Given the description of an element on the screen output the (x, y) to click on. 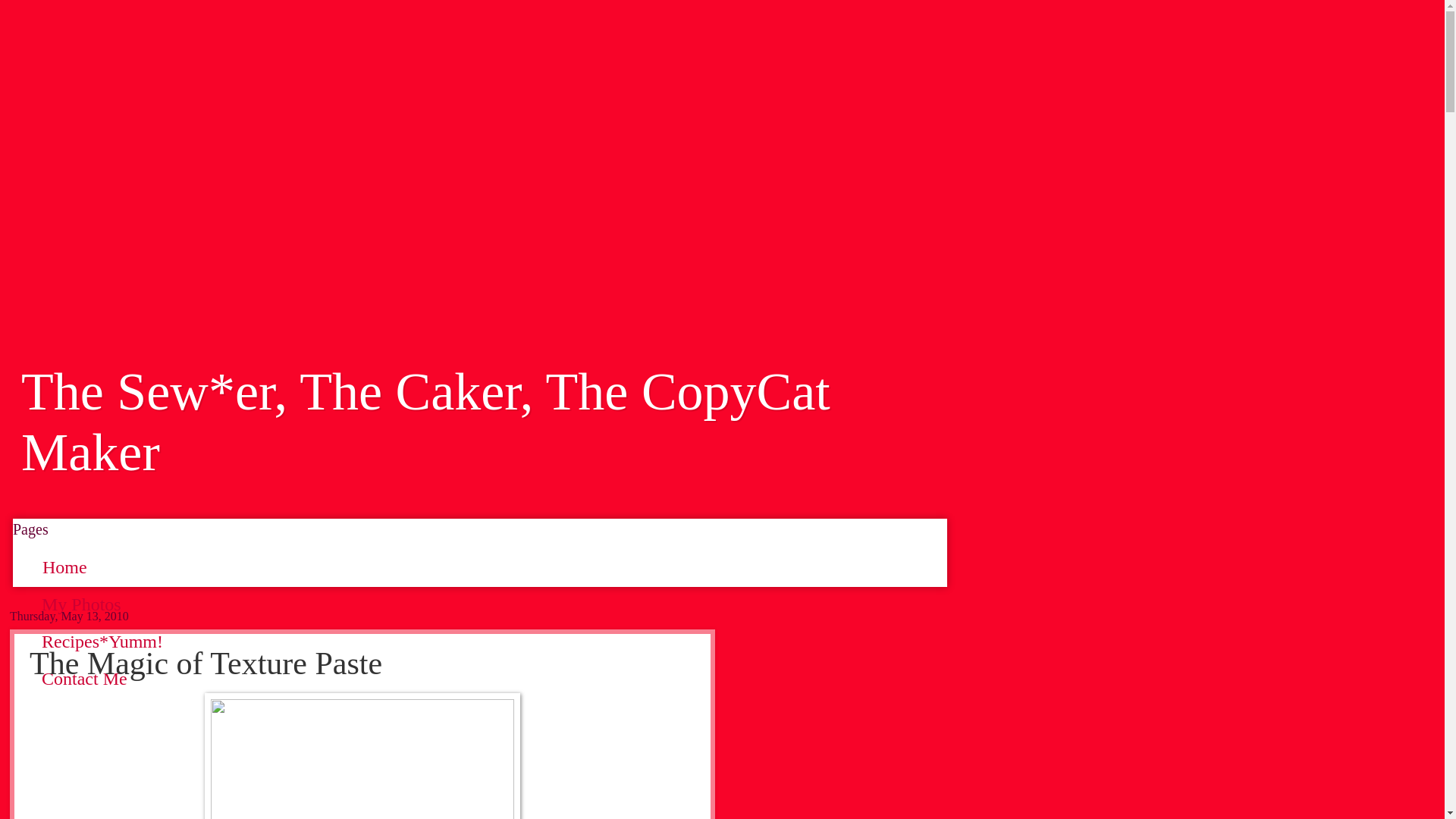
My Photos (81, 604)
Home (64, 567)
Contact Me (85, 678)
